Given the description of an element on the screen output the (x, y) to click on. 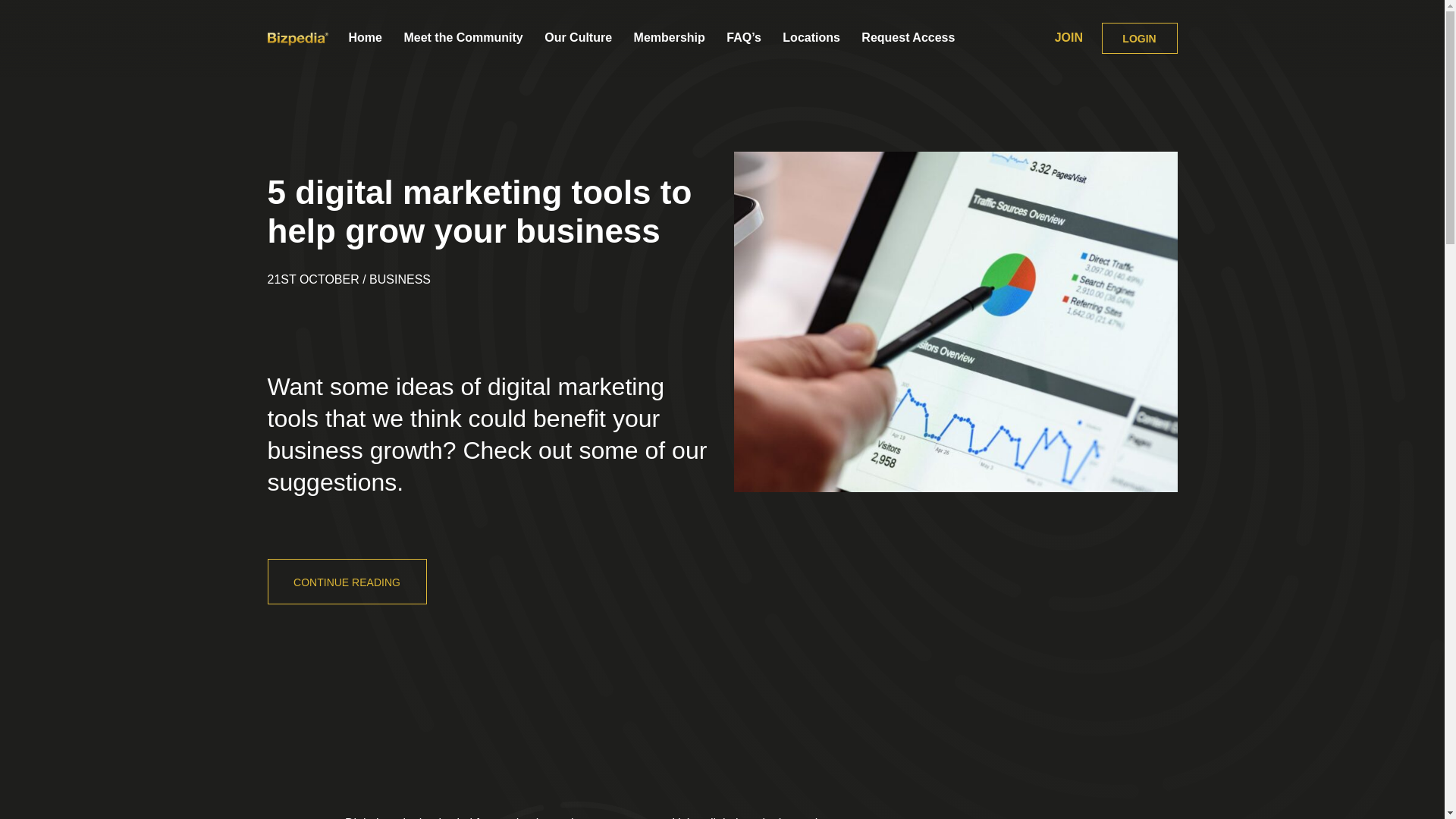
CONTINUE READING (346, 581)
LOGIN (1138, 38)
Our Culture (577, 37)
CONTINUE READING (346, 581)
Locations (811, 37)
Meet the Community (462, 37)
JOIN (1068, 38)
BUSINESS (399, 278)
Membership (668, 37)
Request Access (908, 37)
